Given the description of an element on the screen output the (x, y) to click on. 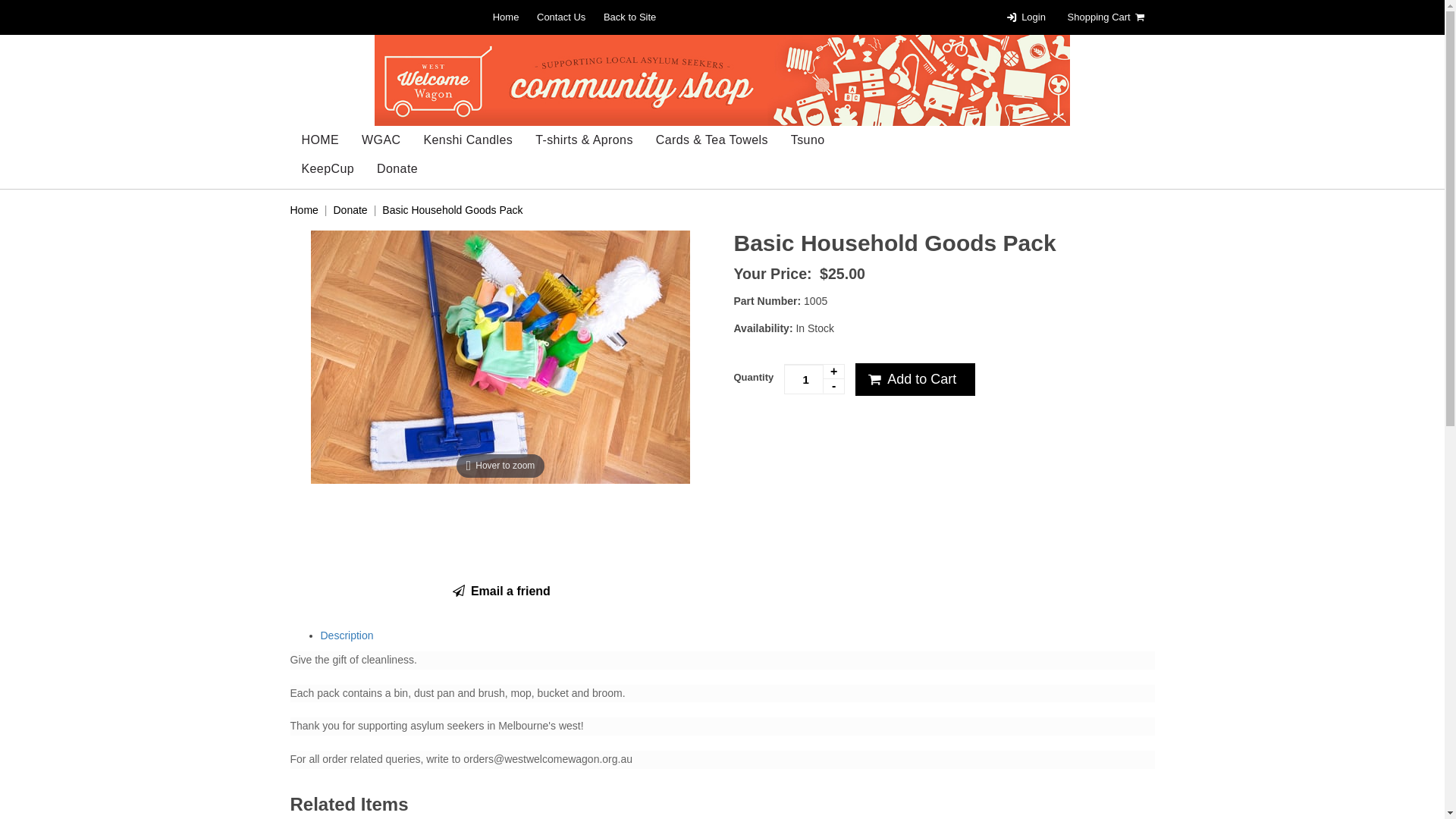
Back to Site Element type: text (629, 16)
Add to Cart Element type: text (915, 379)
Basic Household Goods Pack Element type: text (452, 209)
Contact Us Element type: text (560, 16)
Donate Element type: text (397, 168)
Description Element type: text (346, 635)
Donate Element type: text (350, 209)
KeepCup Element type: text (327, 168)
Tsuno Element type: text (807, 139)
T-shirts & Aprons Element type: text (584, 139)
- Element type: text (833, 386)
Cards & Tea Towels Element type: text (711, 139)
Shopping Cart Element type: text (1107, 16)
Zoom in on Image(s)
Hover to zoom Element type: text (500, 356)
Kenshi Candles Element type: text (467, 139)
Home Element type: text (505, 16)
Submit Element type: text (732, 395)
HOME Element type: text (319, 139)
WGAC Element type: text (380, 139)
+ Element type: text (833, 371)
Login Element type: text (1024, 16)
Email a friend Element type: text (500, 591)
Home Element type: text (303, 209)
